Given the description of an element on the screen output the (x, y) to click on. 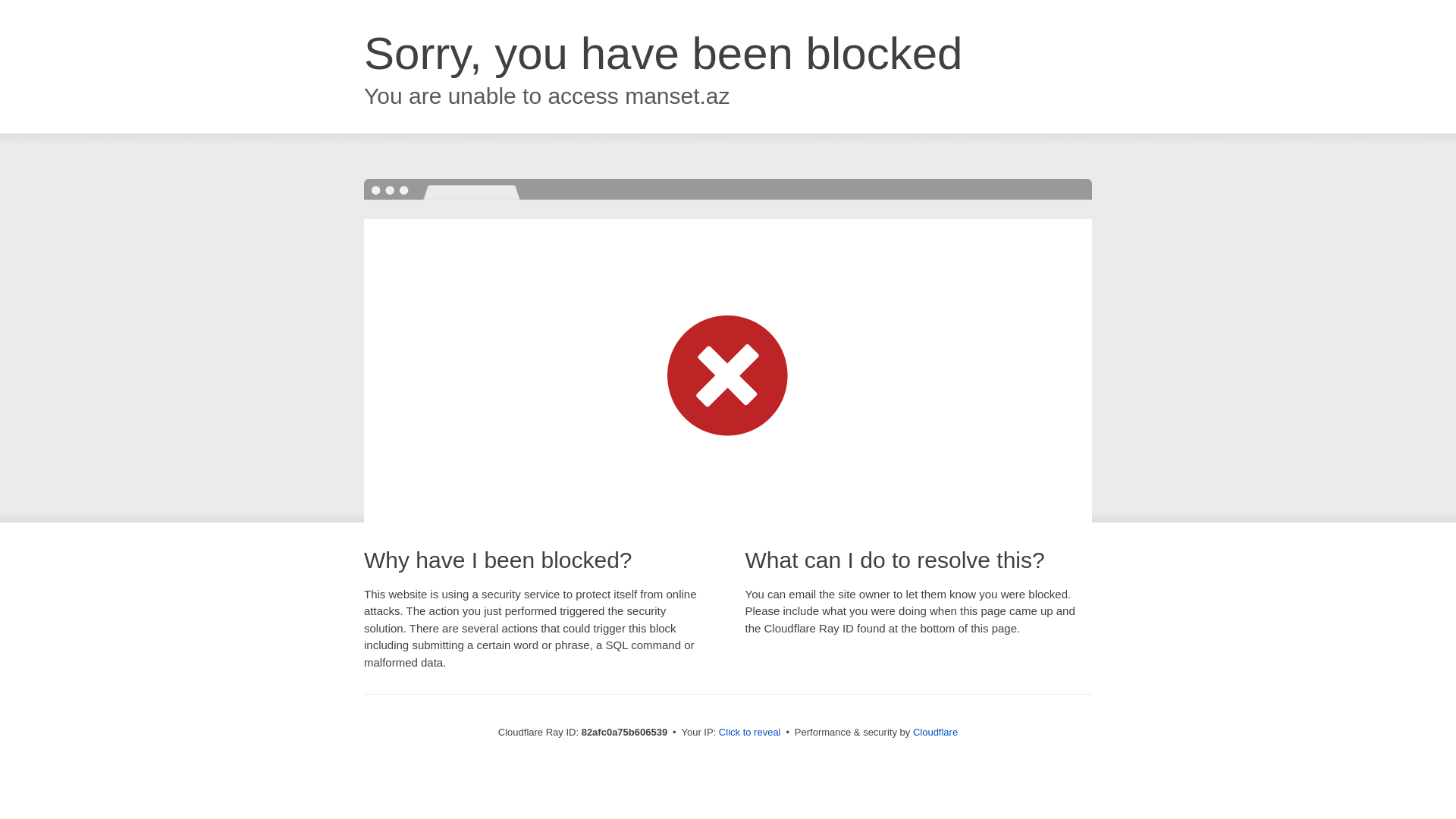
Click to reveal Element type: text (749, 732)
Cloudflare Element type: text (935, 731)
